Given the description of an element on the screen output the (x, y) to click on. 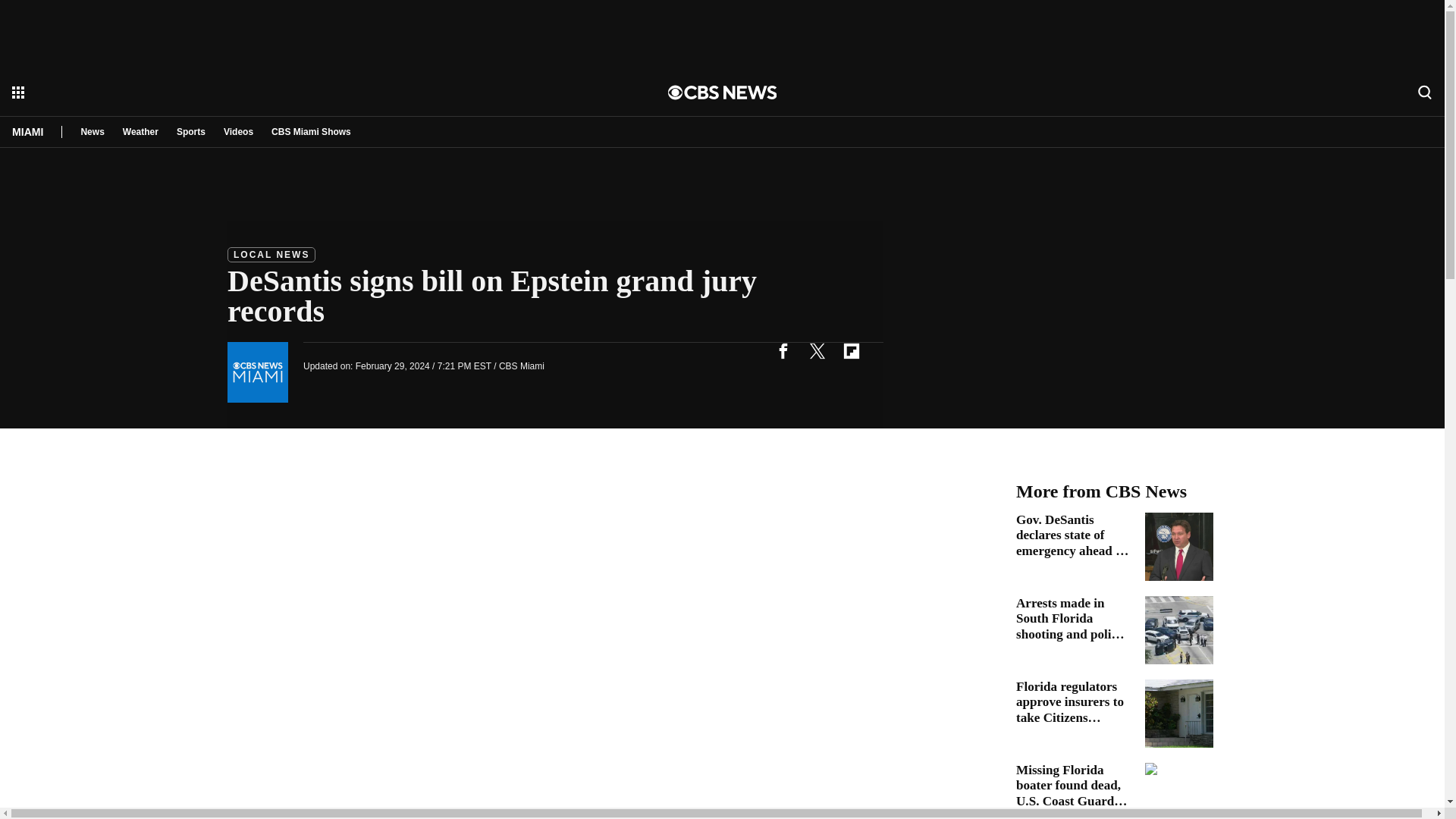
flipboard (850, 350)
twitter (816, 350)
facebook (782, 350)
